Given the description of an element on the screen output the (x, y) to click on. 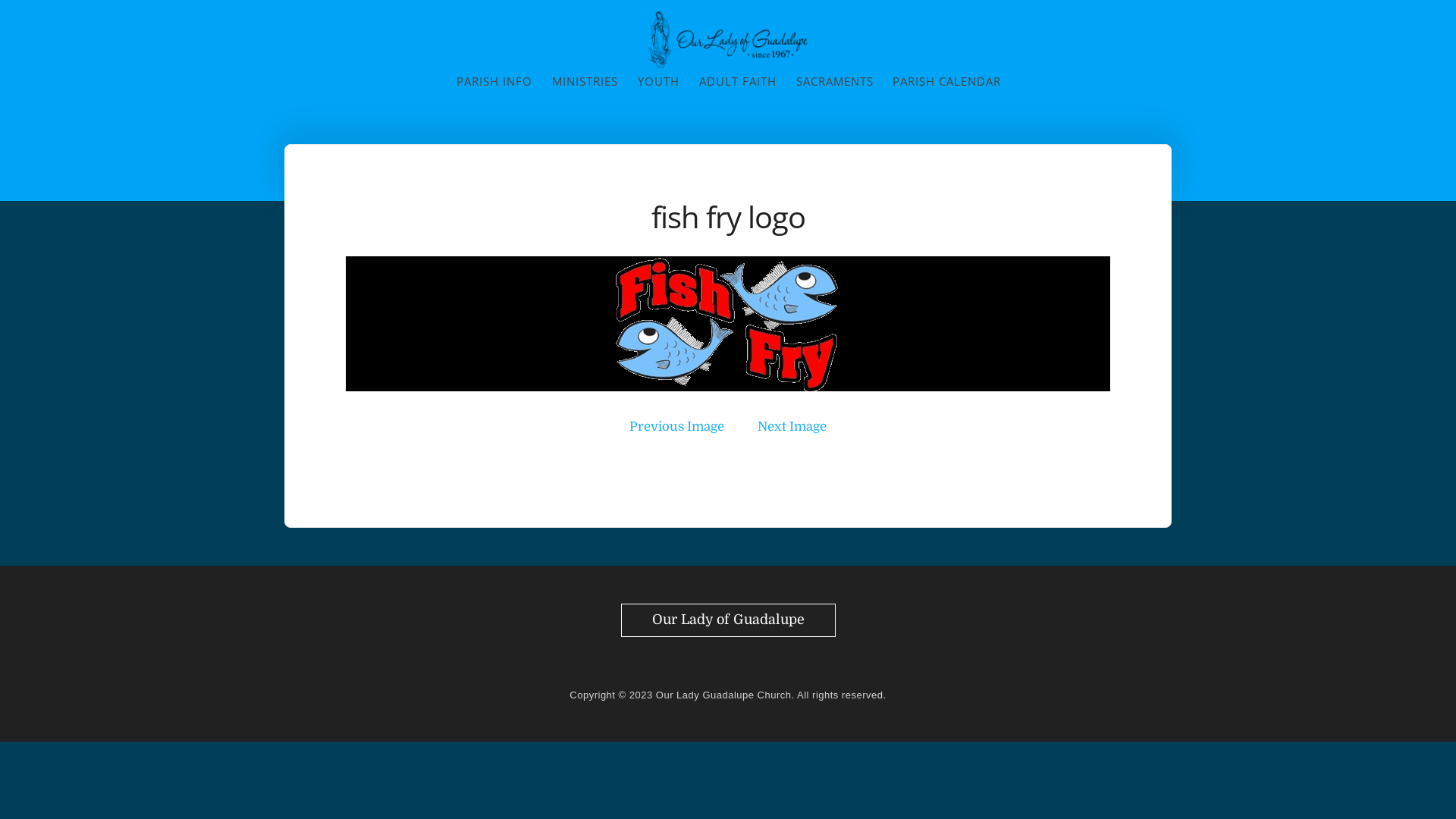
YOUTH Element type: text (657, 80)
PARISH CALENDAR Element type: text (946, 81)
MINISTRIES Element type: text (585, 80)
ADULT FAITH Element type: text (737, 80)
SACRAMENTS Element type: text (834, 80)
PARISH INFO Element type: text (494, 80)
Previous Image Element type: text (676, 426)
Next Image Element type: text (791, 426)
